Given the description of an element on the screen output the (x, y) to click on. 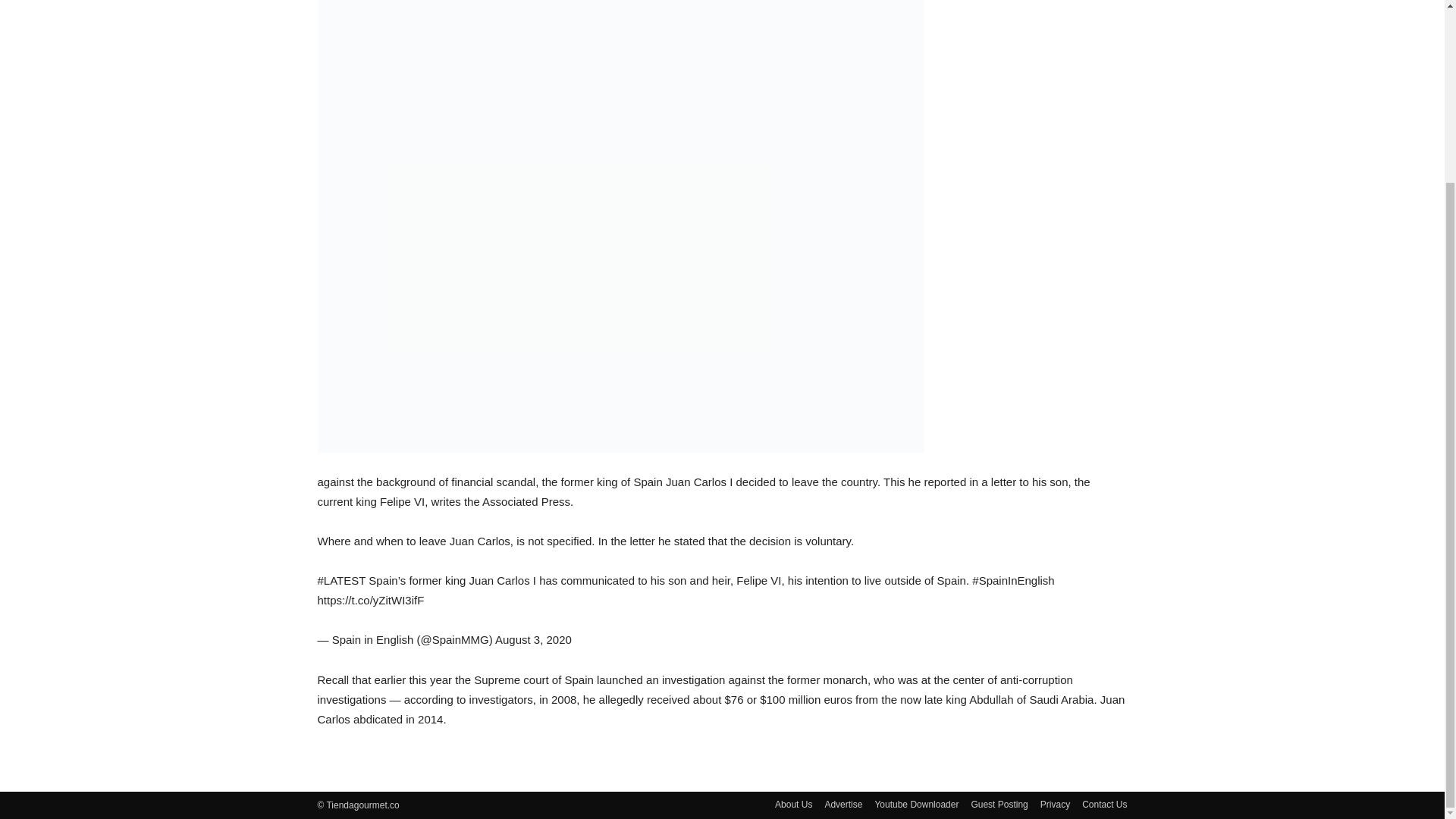
Youtube Downloader (916, 804)
Guest Posting (999, 804)
Contact Us (1103, 804)
Privacy (1055, 804)
Advertise (842, 804)
About Us (793, 804)
